Given the description of an element on the screen output the (x, y) to click on. 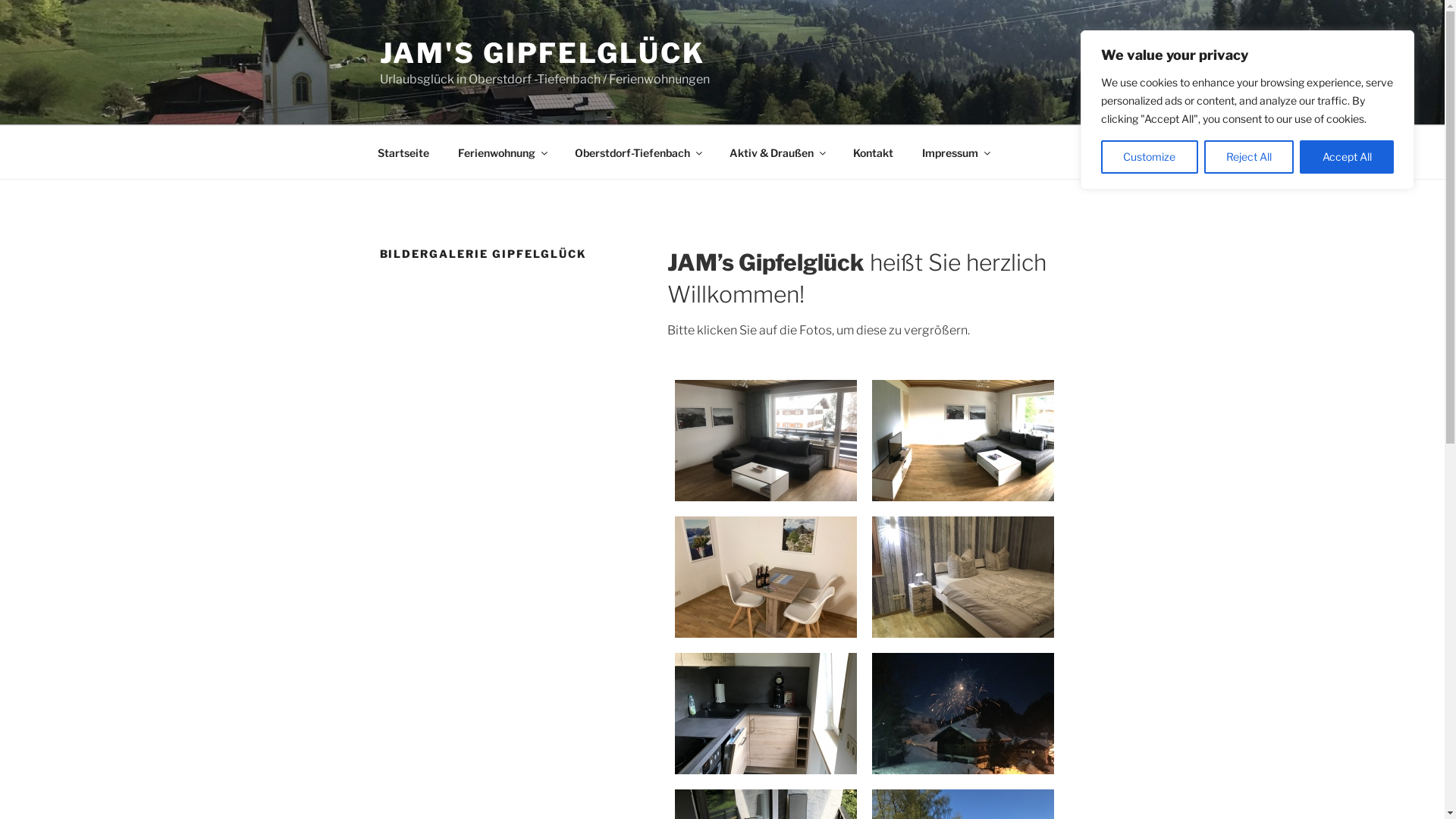
Schlafzimmer Element type: hover (963, 576)
Impressum Element type: text (954, 151)
Wohnzimmer Element type: hover (963, 440)
Startseite Element type: text (403, 151)
Customize Element type: text (1149, 156)
Ferienwohnung Element type: text (501, 151)
Essbereich im Wohnzimmer Element type: hover (765, 576)
Kontakt Element type: text (873, 151)
Reject All Element type: text (1249, 156)
Accept All Element type: text (1346, 156)
Oberstdorf-Tiefenbach Element type: text (637, 151)
Wohnzimmer Element type: hover (765, 440)
